Given the description of an element on the screen output the (x, y) to click on. 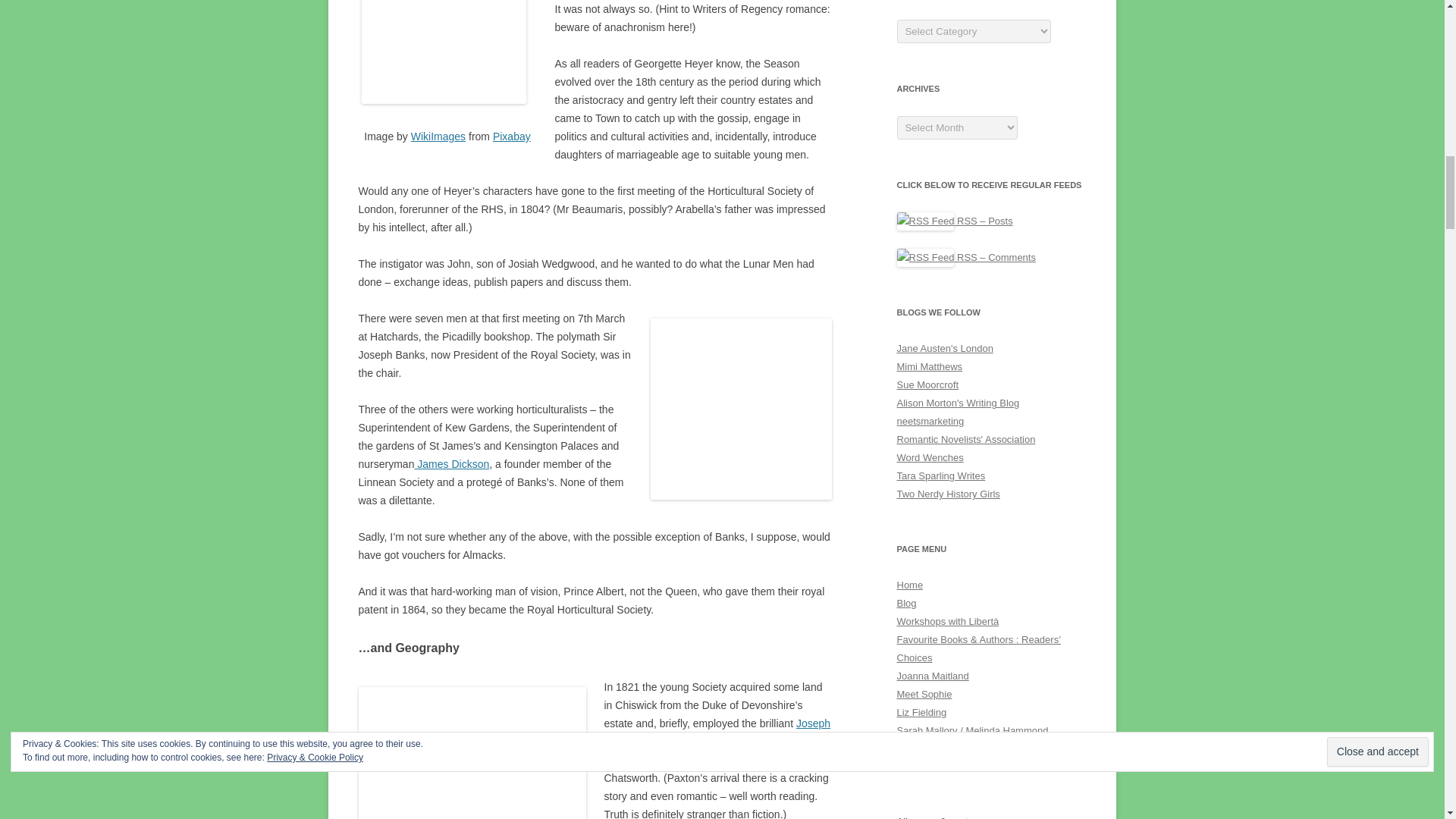
Pixabay (512, 136)
James Dickson (451, 463)
Joseph Paxton (716, 732)
WikiImages (437, 136)
